Given the description of an element on the screen output the (x, y) to click on. 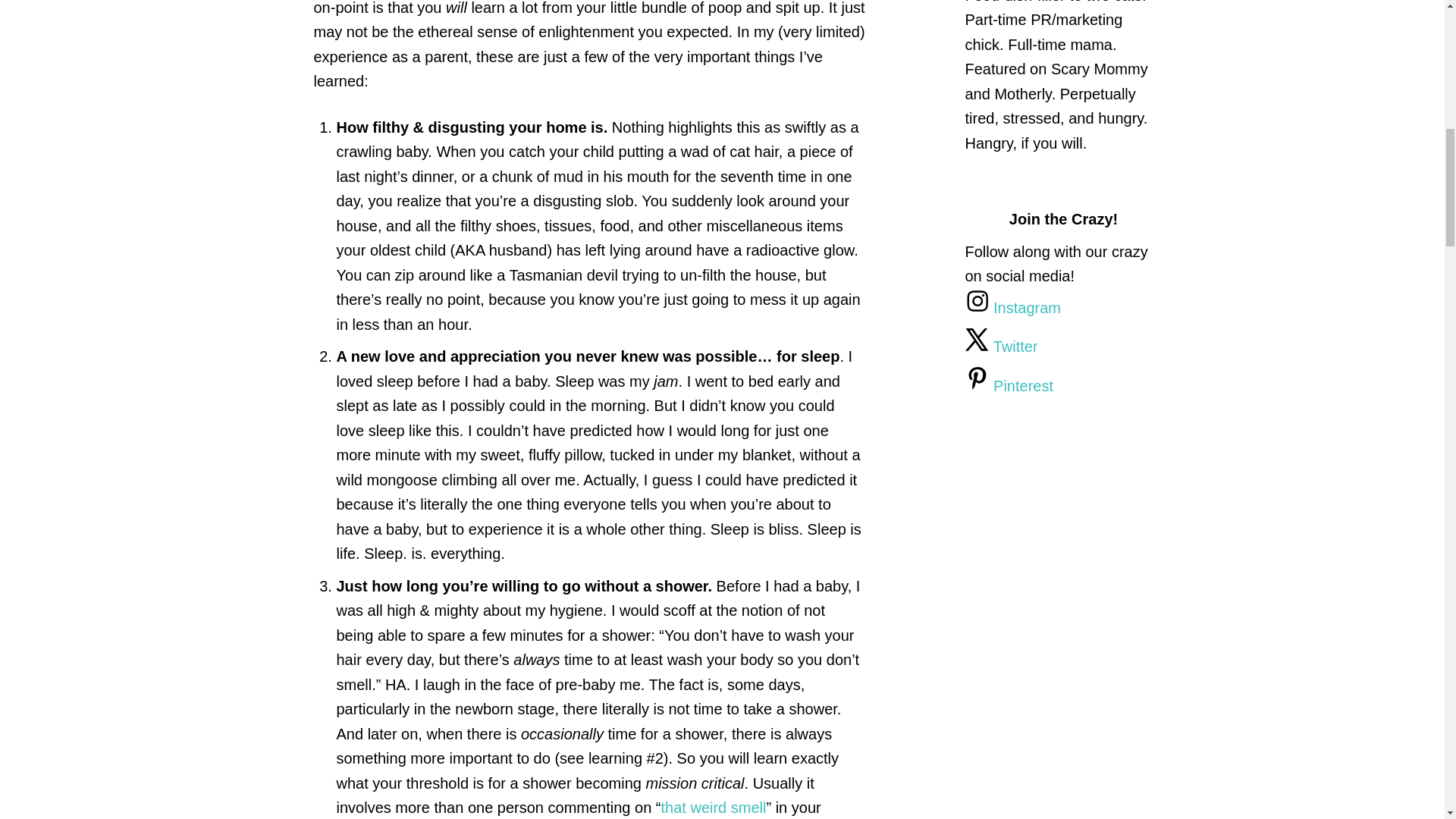
Follow on Instagram (1012, 307)
that weird smell (714, 807)
Follow on X (999, 346)
Follow on Pinterest (1007, 385)
